Given the description of an element on the screen output the (x, y) to click on. 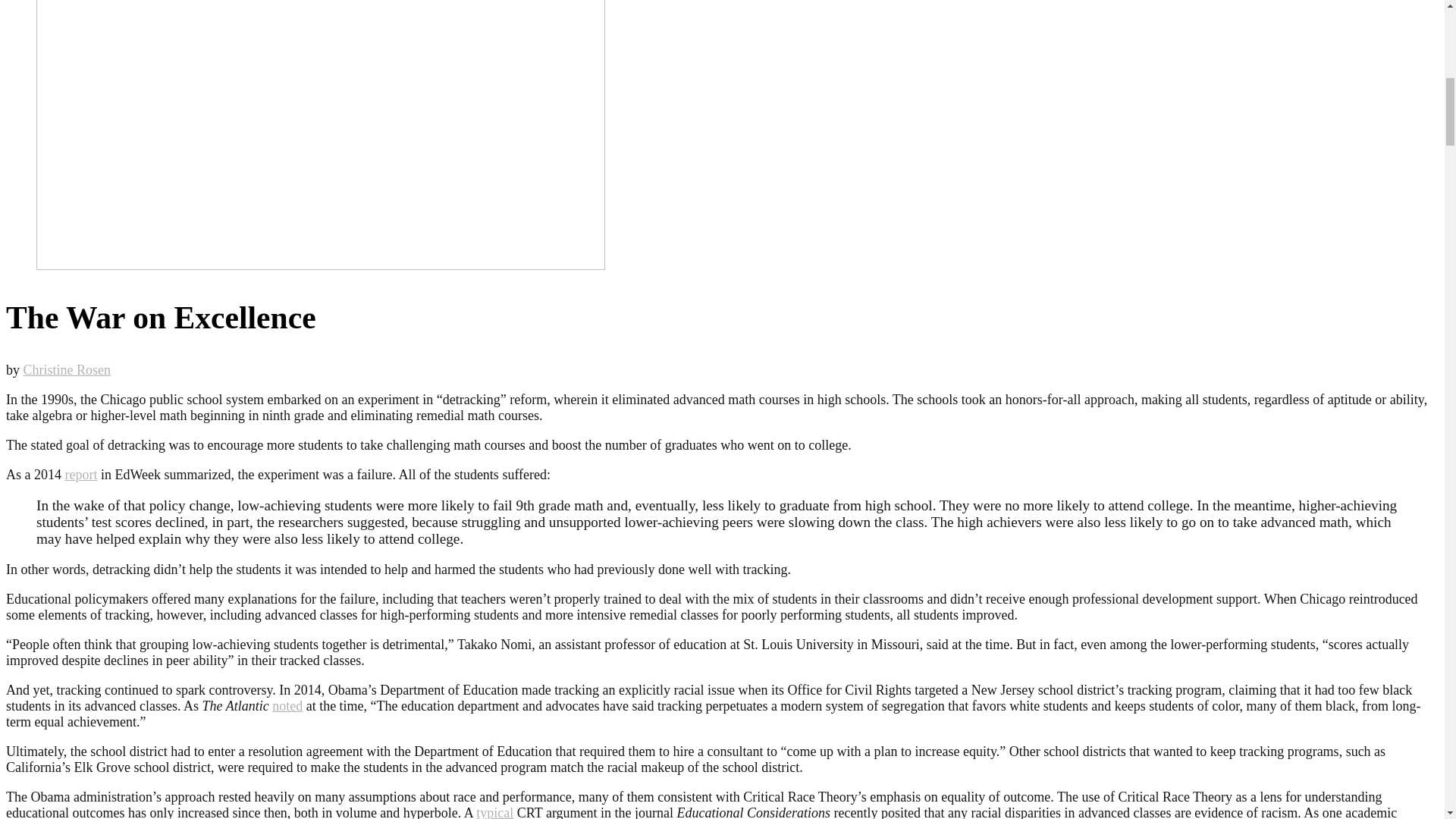
typical (494, 812)
Christine Rosen (66, 369)
noted (287, 705)
report (81, 474)
Posts by Christine Rosen (66, 369)
